Given the description of an element on the screen output the (x, y) to click on. 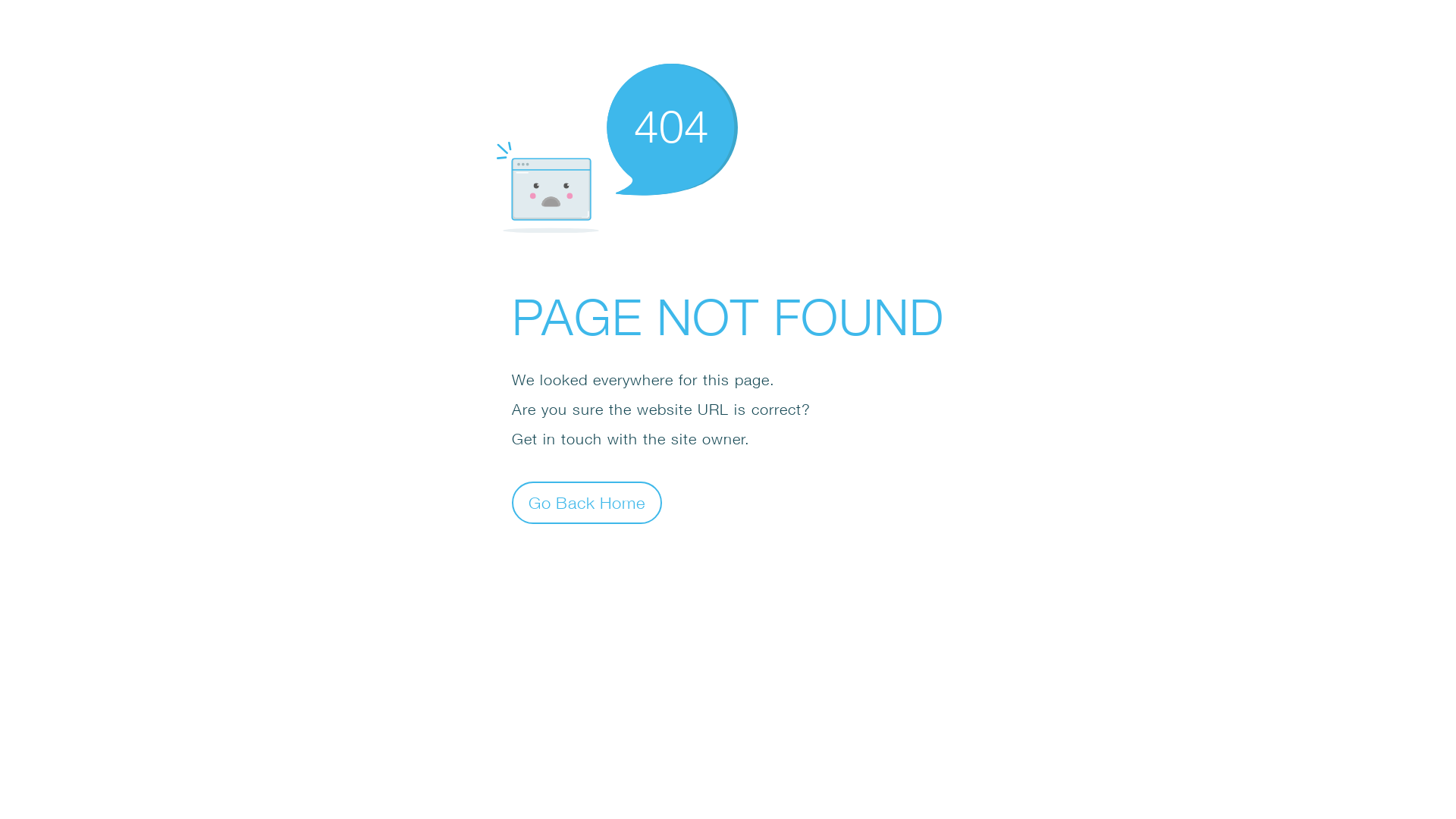
Go Back Home Element type: text (586, 502)
